Given the description of an element on the screen output the (x, y) to click on. 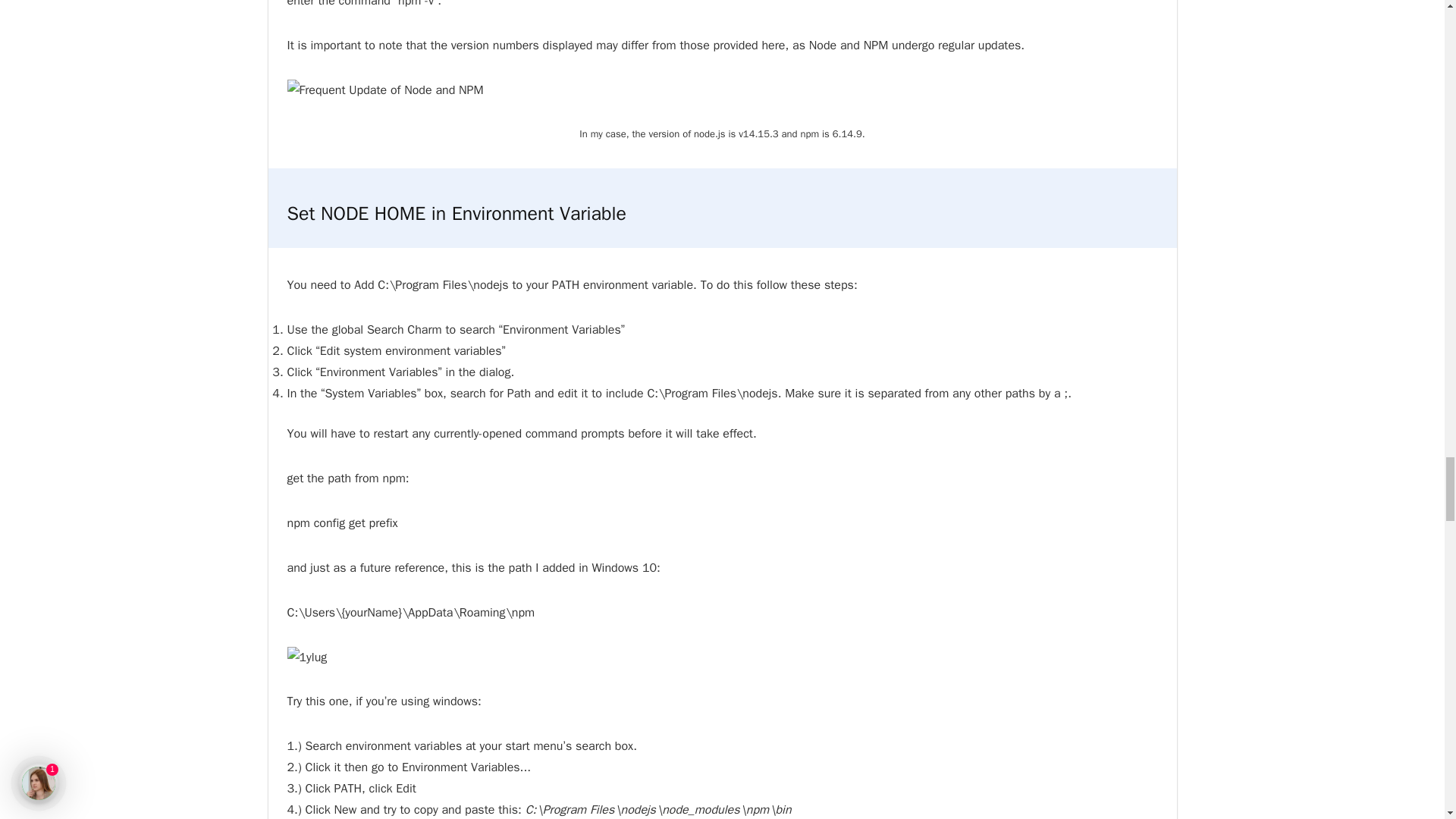
How to Install Node.js and NPM on Windows? 8 (384, 89)
How to Install Node.js and NPM on Windows? 9 (306, 657)
